Given the description of an element on the screen output the (x, y) to click on. 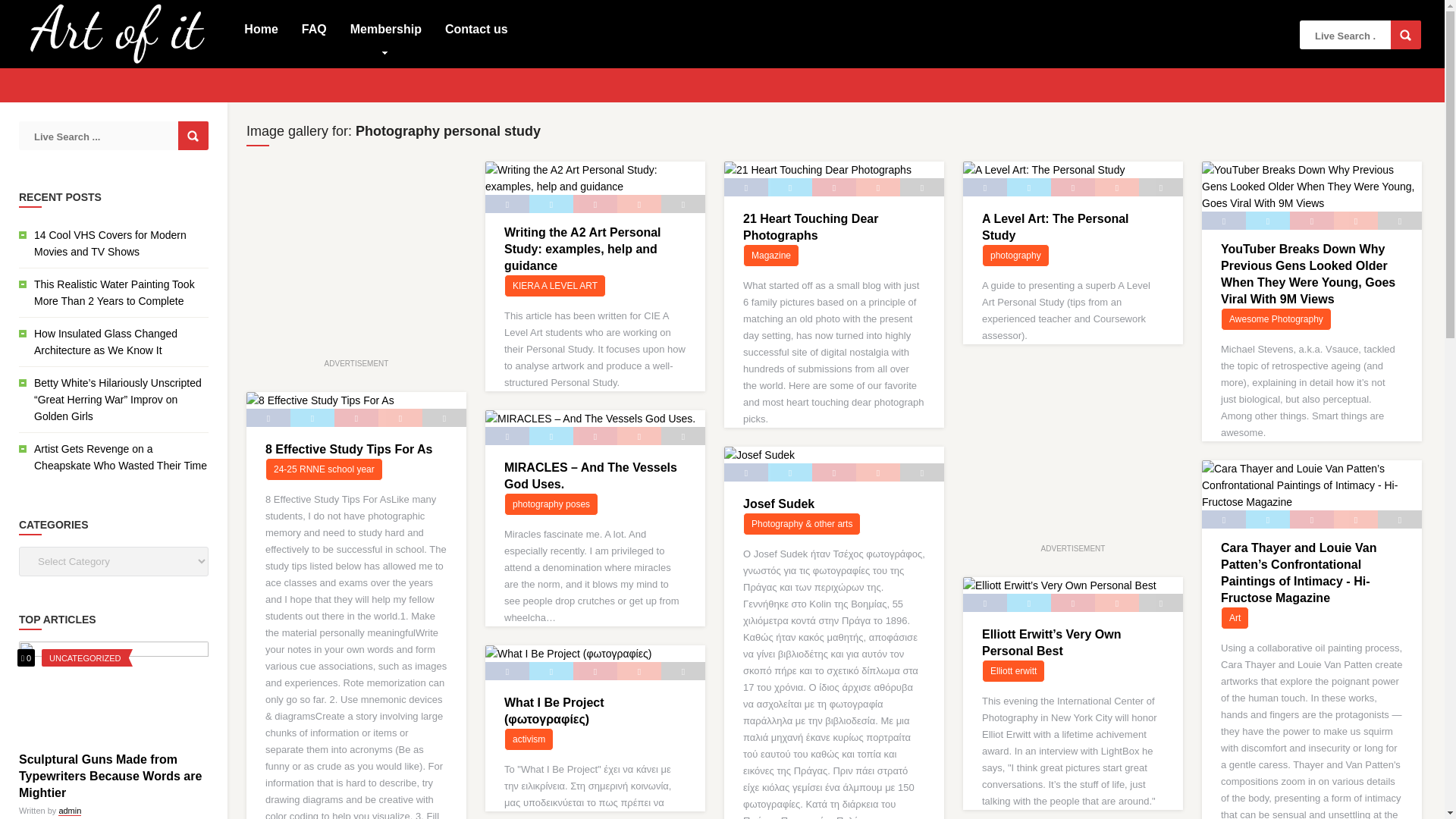
View all posts in Uncategorized (84, 657)
14 Cool VHS Covers for Modern Movies and TV Shows (109, 243)
Search (1405, 34)
How Insulated Glass Changed Architecture as We Know It (105, 341)
UNCATEGORIZED (84, 657)
Search (1405, 34)
Posts by admin (69, 810)
Membership (385, 28)
Advertisement (360, 256)
Contact us (476, 28)
admin (69, 810)
0 (25, 657)
Advertisement (1076, 441)
